Given the description of an element on the screen output the (x, y) to click on. 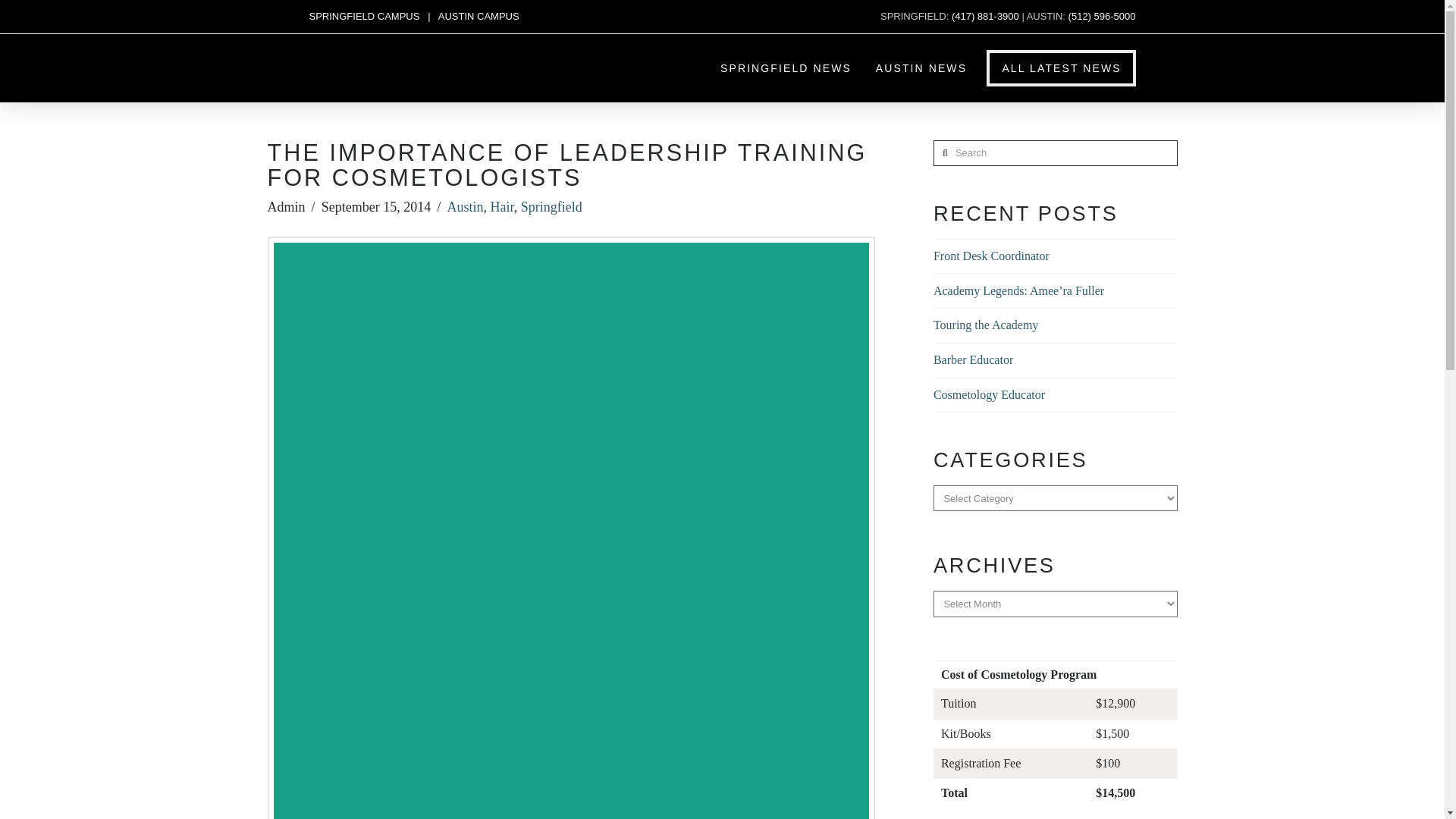
SPRINGFIELD NEWS (785, 68)
Touring the Academy (985, 324)
Cosmetology Educator (989, 394)
Barber Educator (973, 359)
Austin (464, 206)
Hair (501, 206)
SPRINGFIELD CAMPUS (364, 16)
Front Desk Coordinator (991, 255)
AUSTIN CAMPUS (478, 16)
Springfield (551, 206)
